Given the description of an element on the screen output the (x, y) to click on. 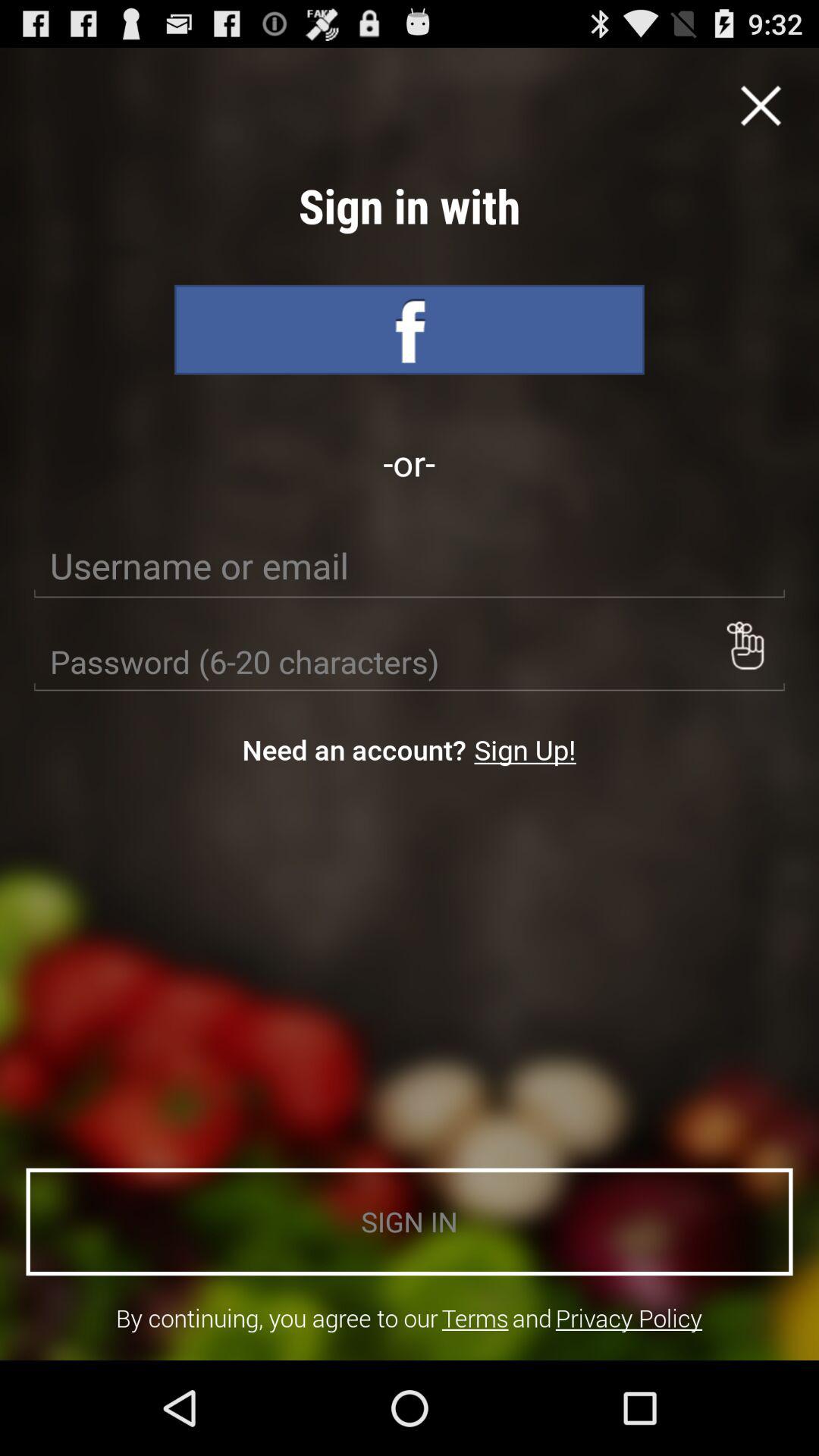
tap the icon below the sign in (628, 1317)
